Given the description of an element on the screen output the (x, y) to click on. 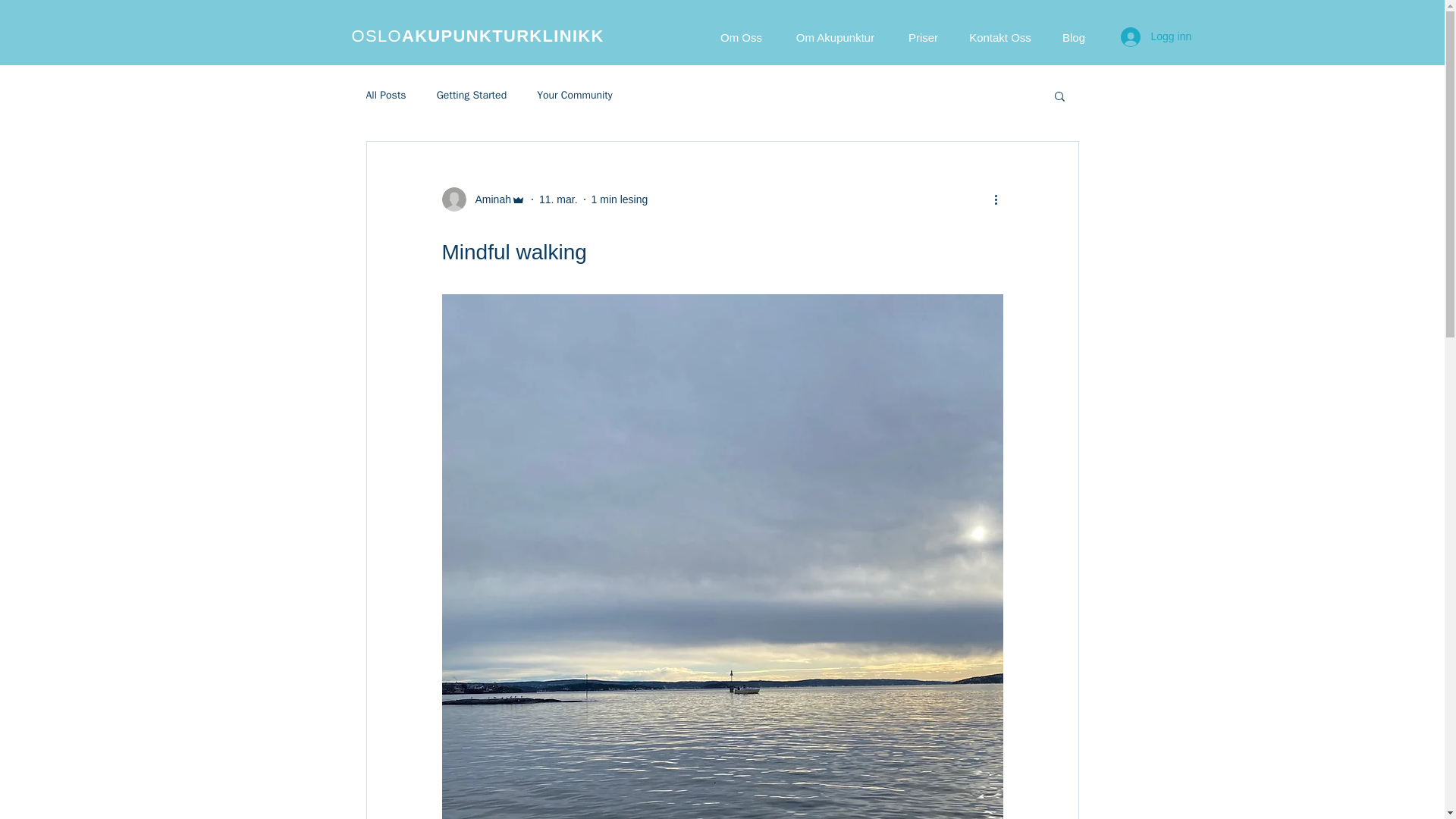
Getting Started (471, 95)
OSLOAKUPUNKTURKLINIKK (478, 35)
Your Community (574, 95)
Blog (1073, 36)
11. mar. (558, 198)
Logg inn (1155, 36)
All Posts (385, 95)
Aminah (482, 199)
1 min lesing (619, 198)
Priser (923, 36)
Kontakt Oss (999, 36)
Aminah  (488, 198)
